Given the description of an element on the screen output the (x, y) to click on. 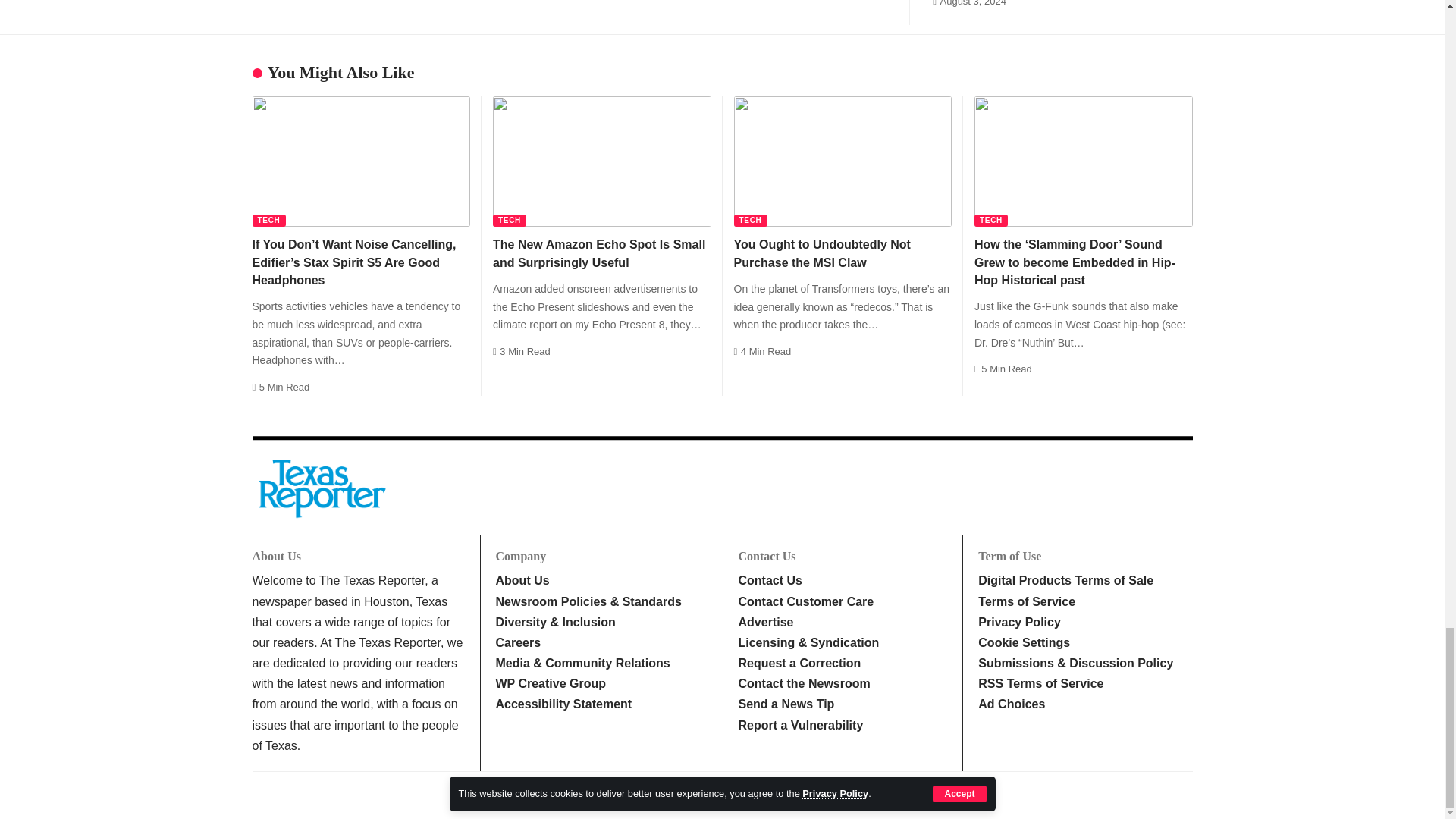
The New Amazon Echo Spot Is Small and Surprisingly Useful (602, 161)
You Ought to Undoubtedly Not Purchase the MSI Claw (842, 161)
